Given the description of an element on the screen output the (x, y) to click on. 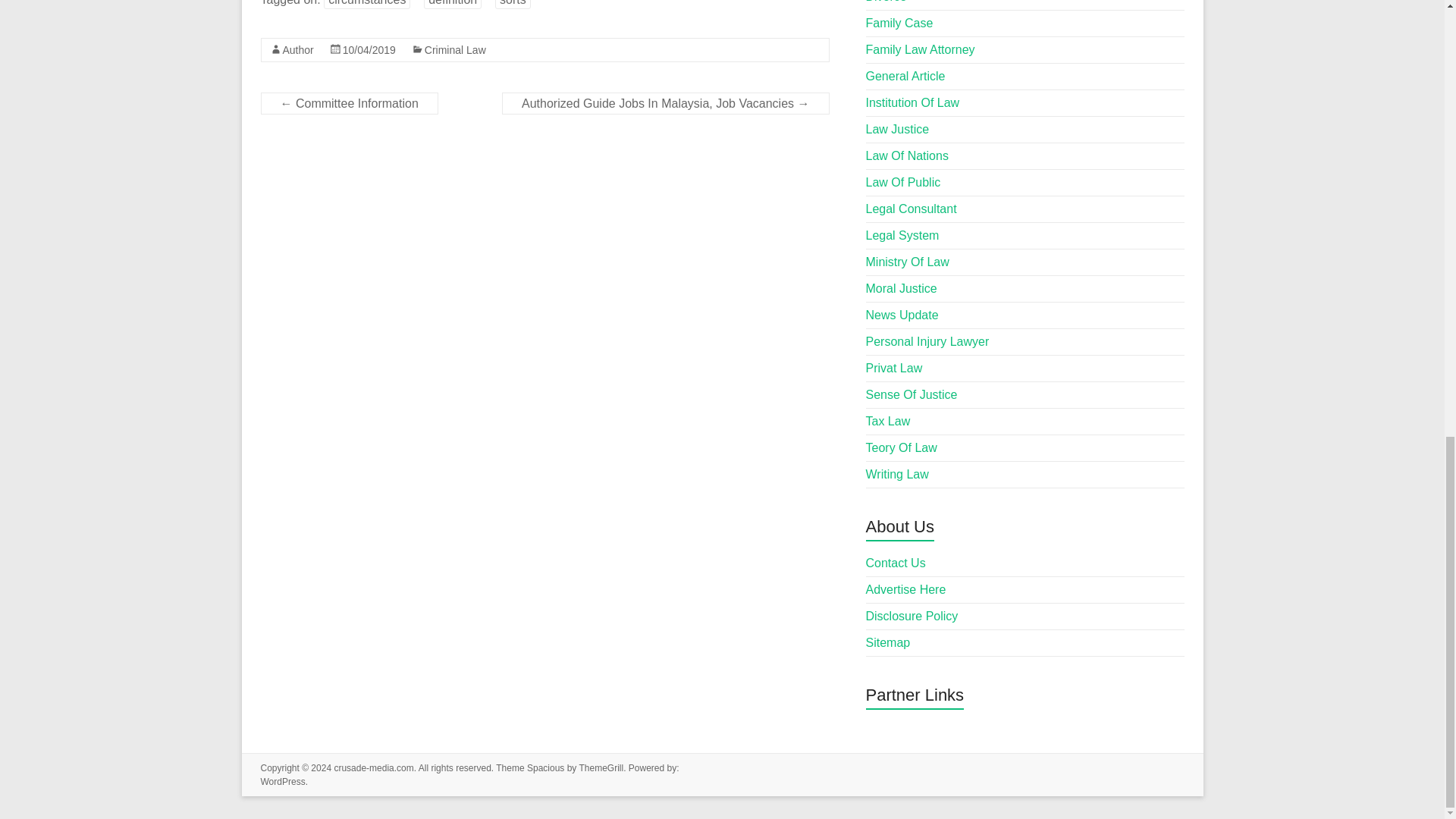
08:38 (369, 50)
sorts (513, 4)
Spacious (545, 767)
Criminal Law (455, 50)
circumstances (366, 4)
Author (297, 50)
definition (452, 4)
WordPress (282, 781)
crusade-media.com (373, 767)
